Given the description of an element on the screen output the (x, y) to click on. 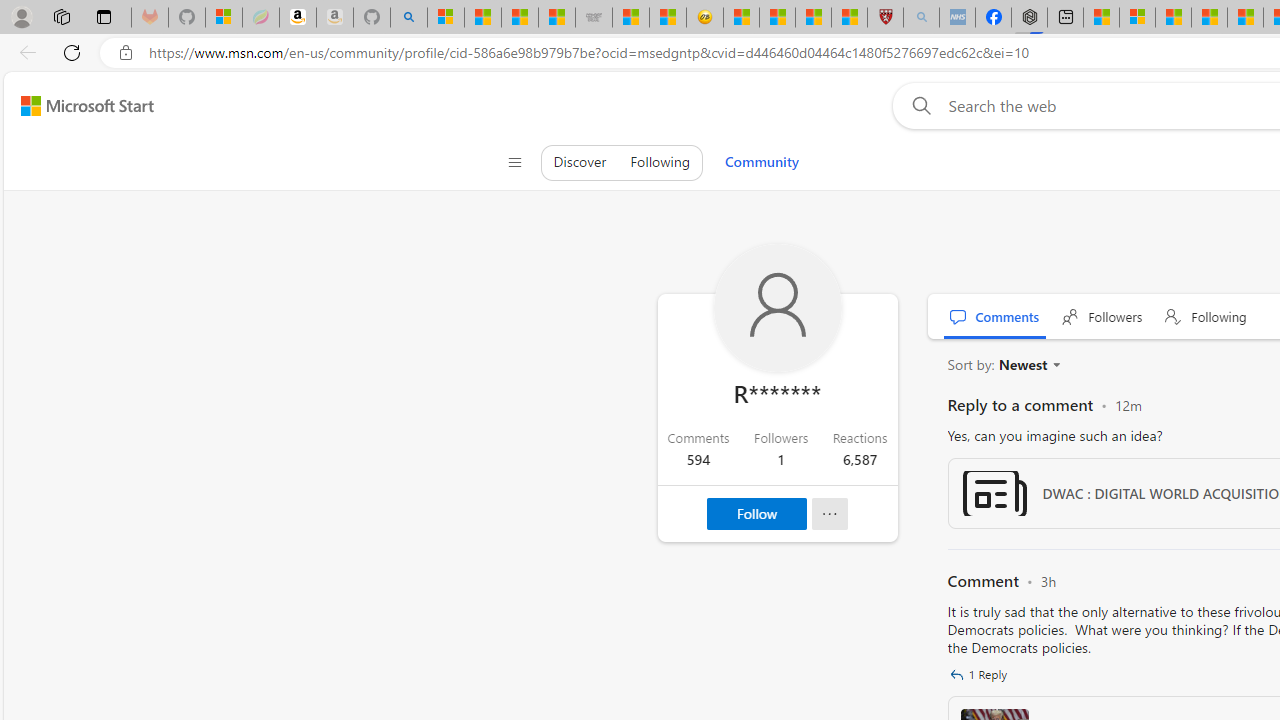
Class: control icon-only (514, 162)
Profile Picture (777, 308)
 Comments (995, 316)
